Given the description of an element on the screen output the (x, y) to click on. 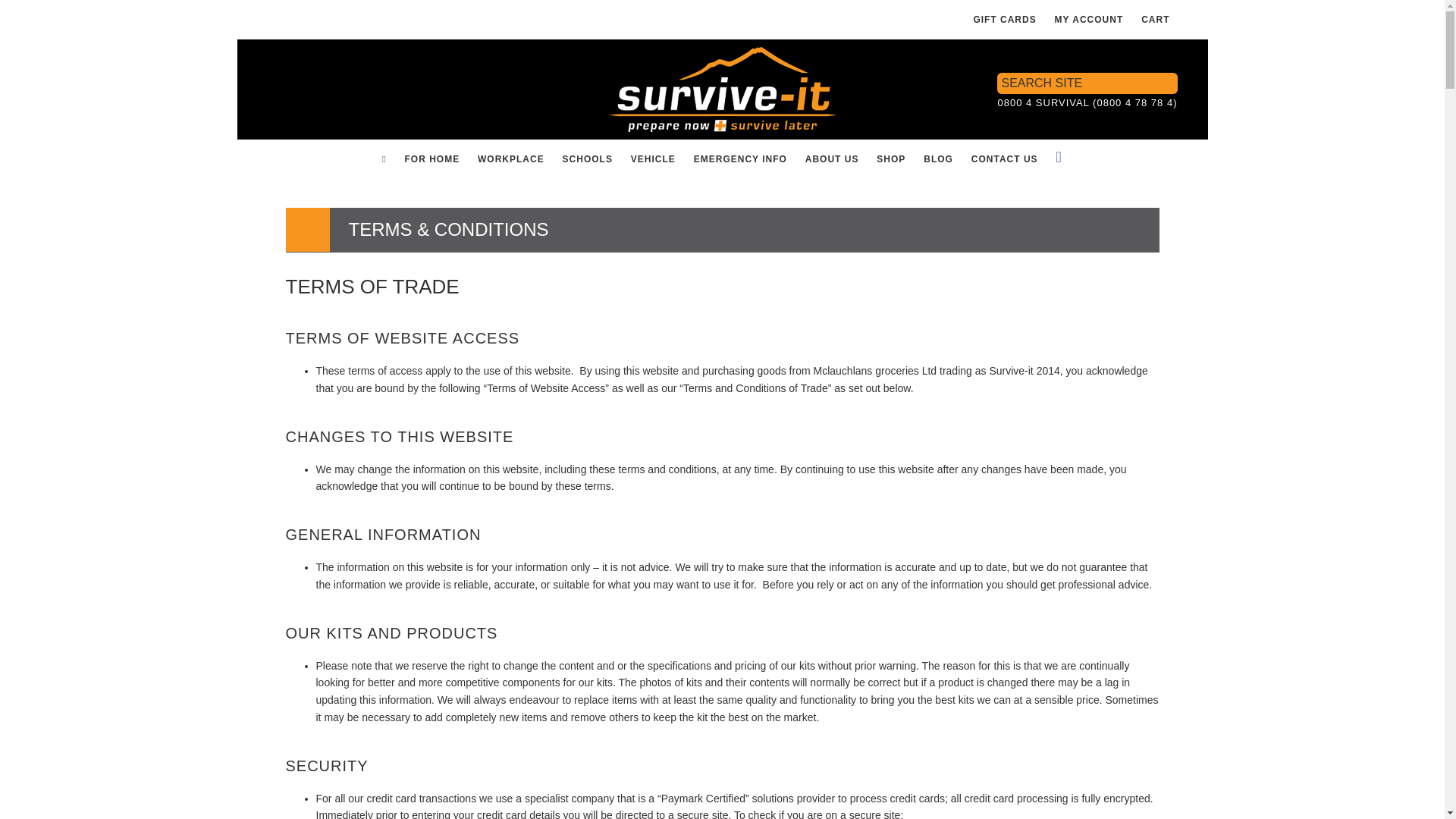
BLOG (937, 159)
ABOUT US (831, 159)
CART (1155, 19)
SCHOOLS (587, 159)
SHOP (890, 159)
FOR HOME (431, 159)
EMERGENCY INFO (739, 159)
GIFT CARDS (1004, 19)
MY ACCOUNT (1088, 19)
WORKPLACE (510, 159)
CONTACT US (1004, 159)
